Given the description of an element on the screen output the (x, y) to click on. 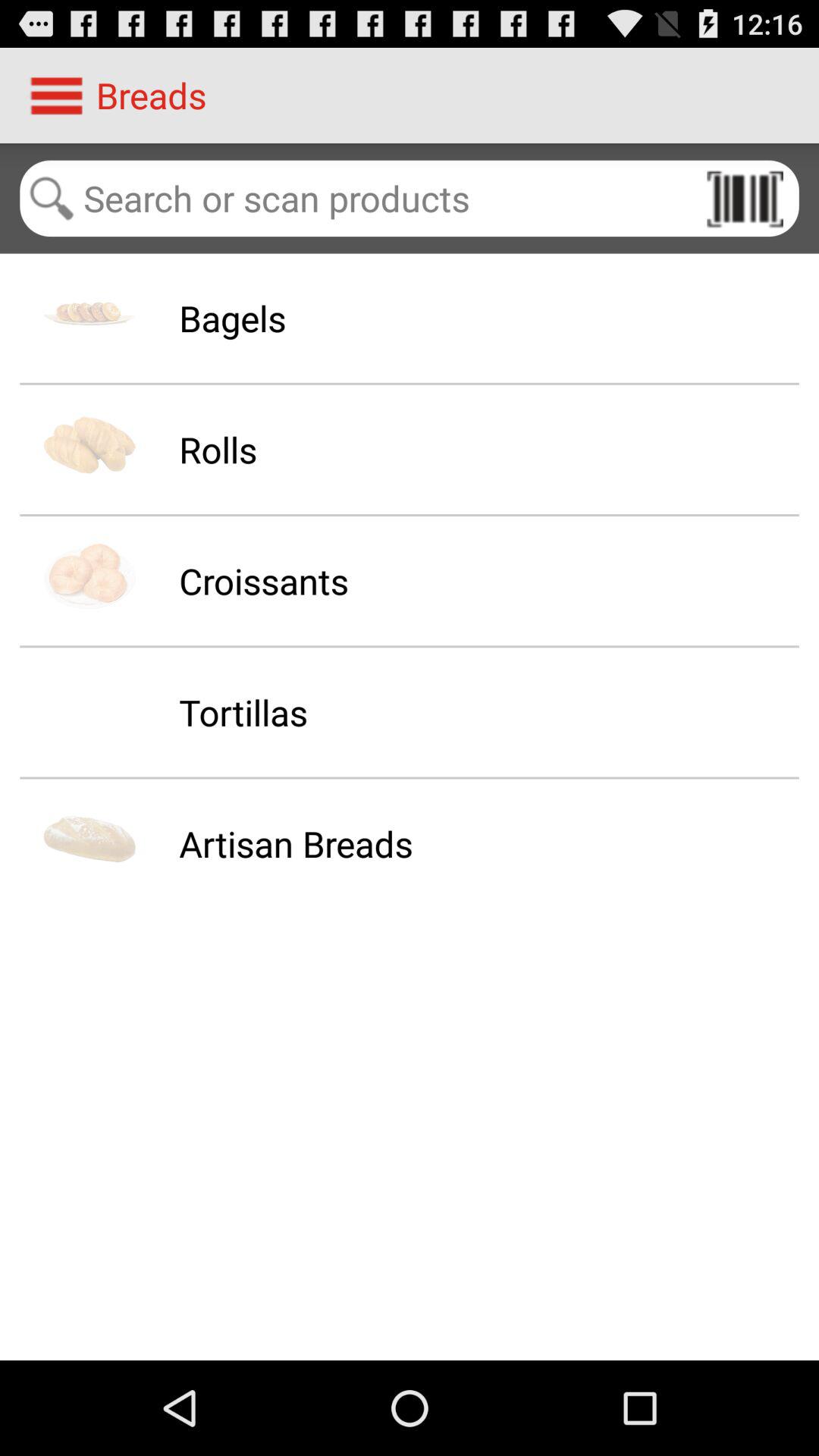
flip to tortillas (243, 712)
